Given the description of an element on the screen output the (x, y) to click on. 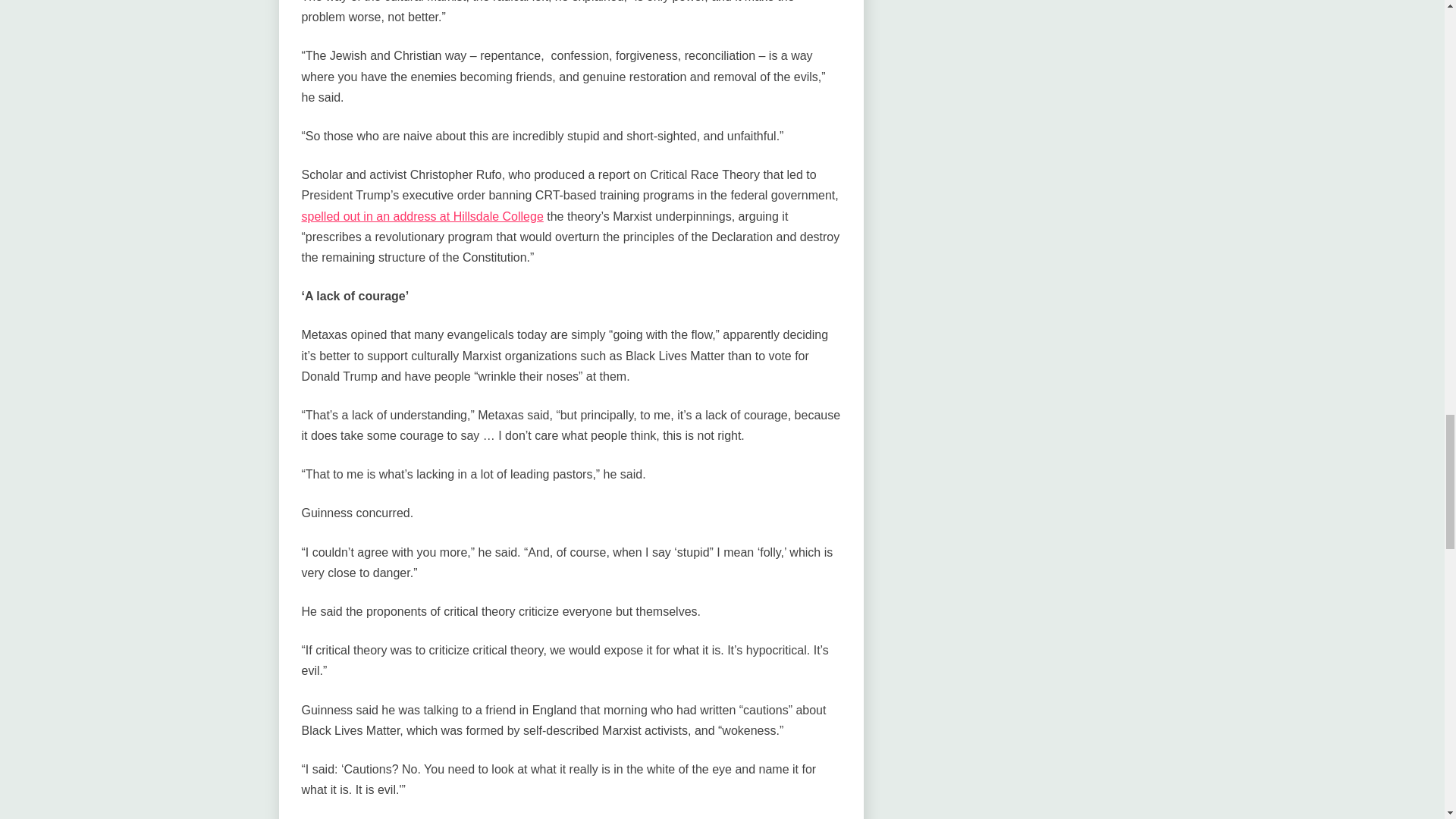
spelled out in an address at Hillsdale College (422, 215)
